Given the description of an element on the screen output the (x, y) to click on. 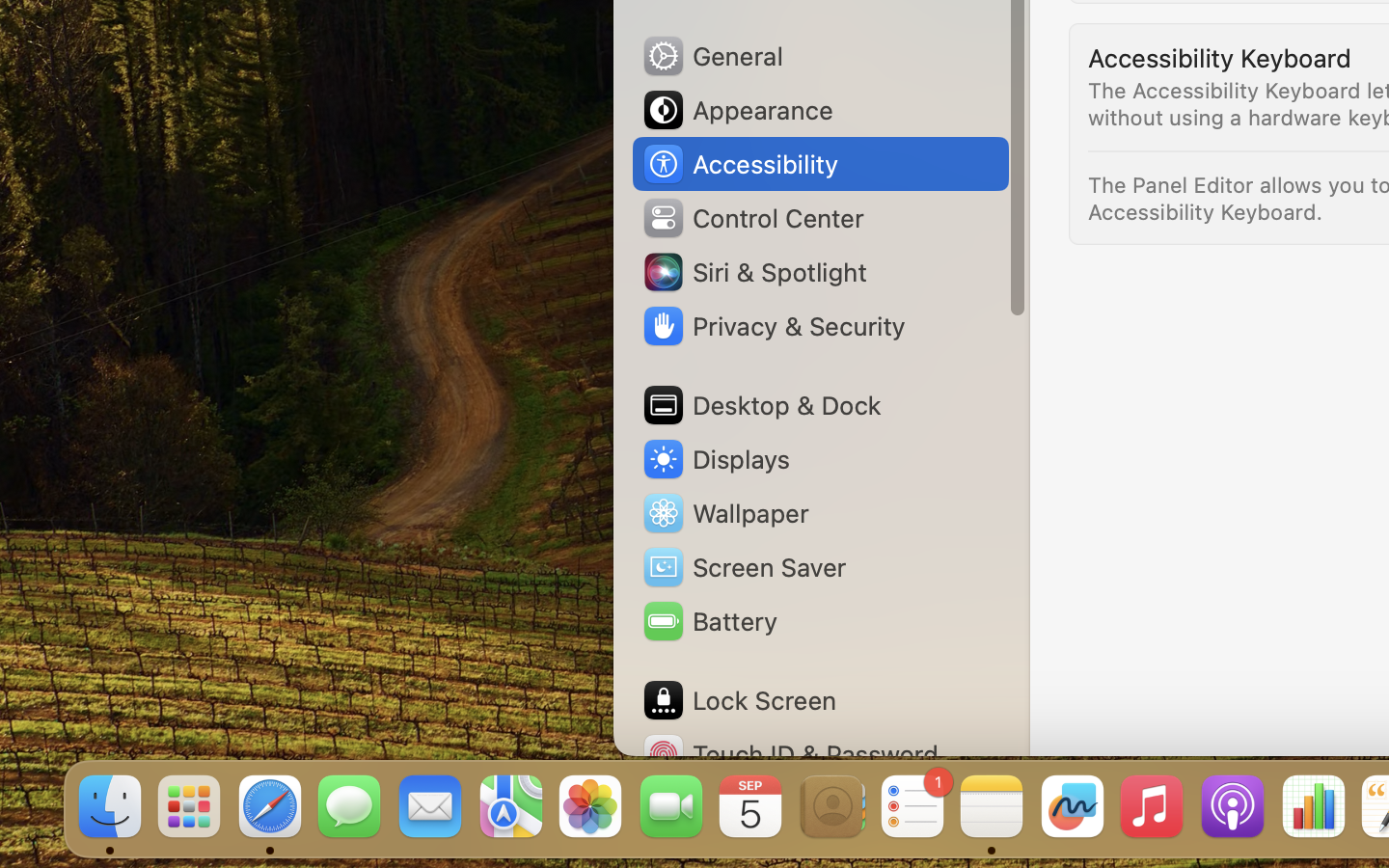
Displays Element type: AXStaticText (715, 458)
Accessibility Element type: AXStaticText (739, 163)
Control Center Element type: AXStaticText (752, 217)
Siri & Spotlight Element type: AXStaticText (753, 271)
